Given the description of an element on the screen output the (x, y) to click on. 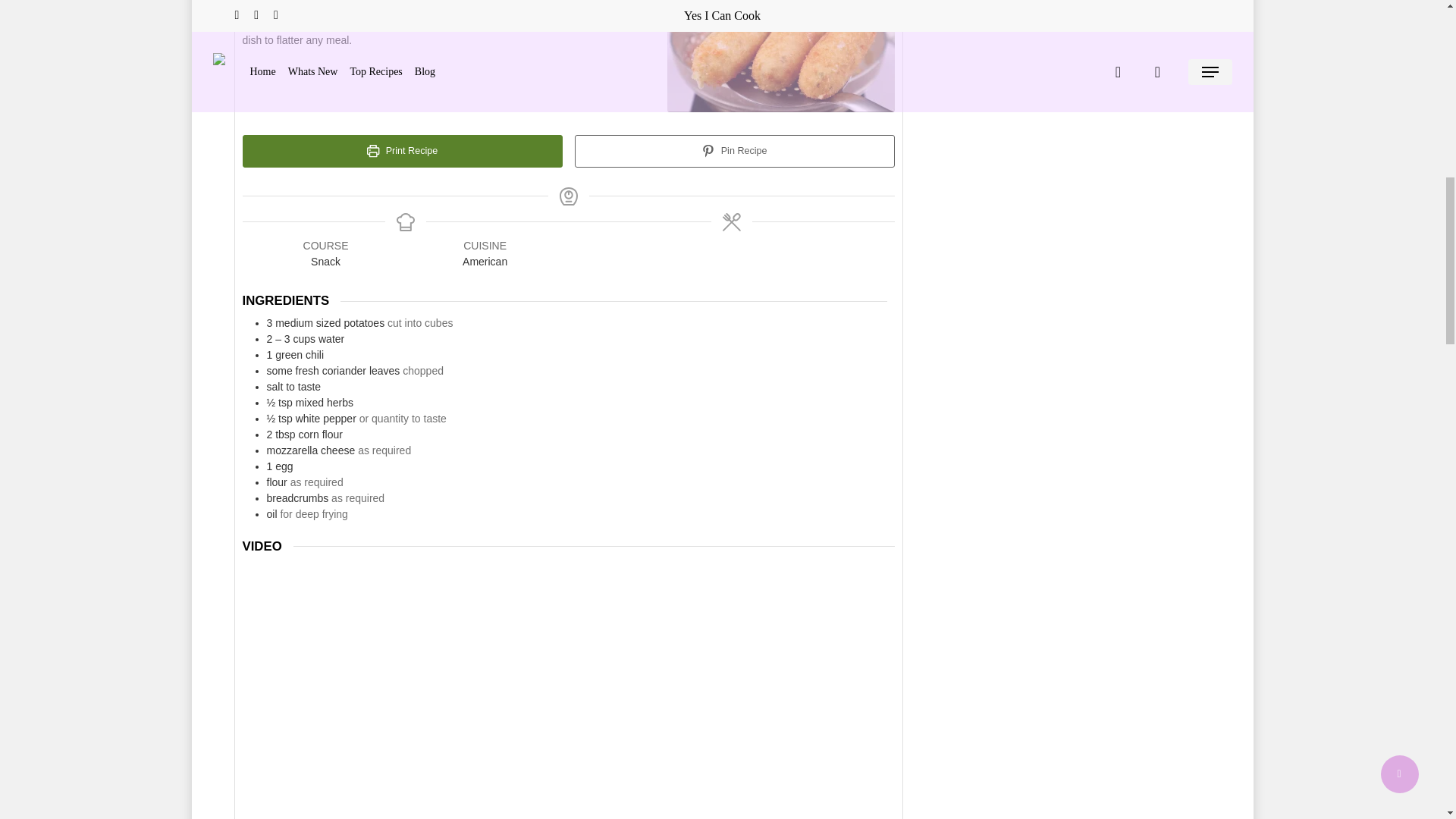
Pin Recipe (735, 151)
Print Recipe (402, 151)
